Given the description of an element on the screen output the (x, y) to click on. 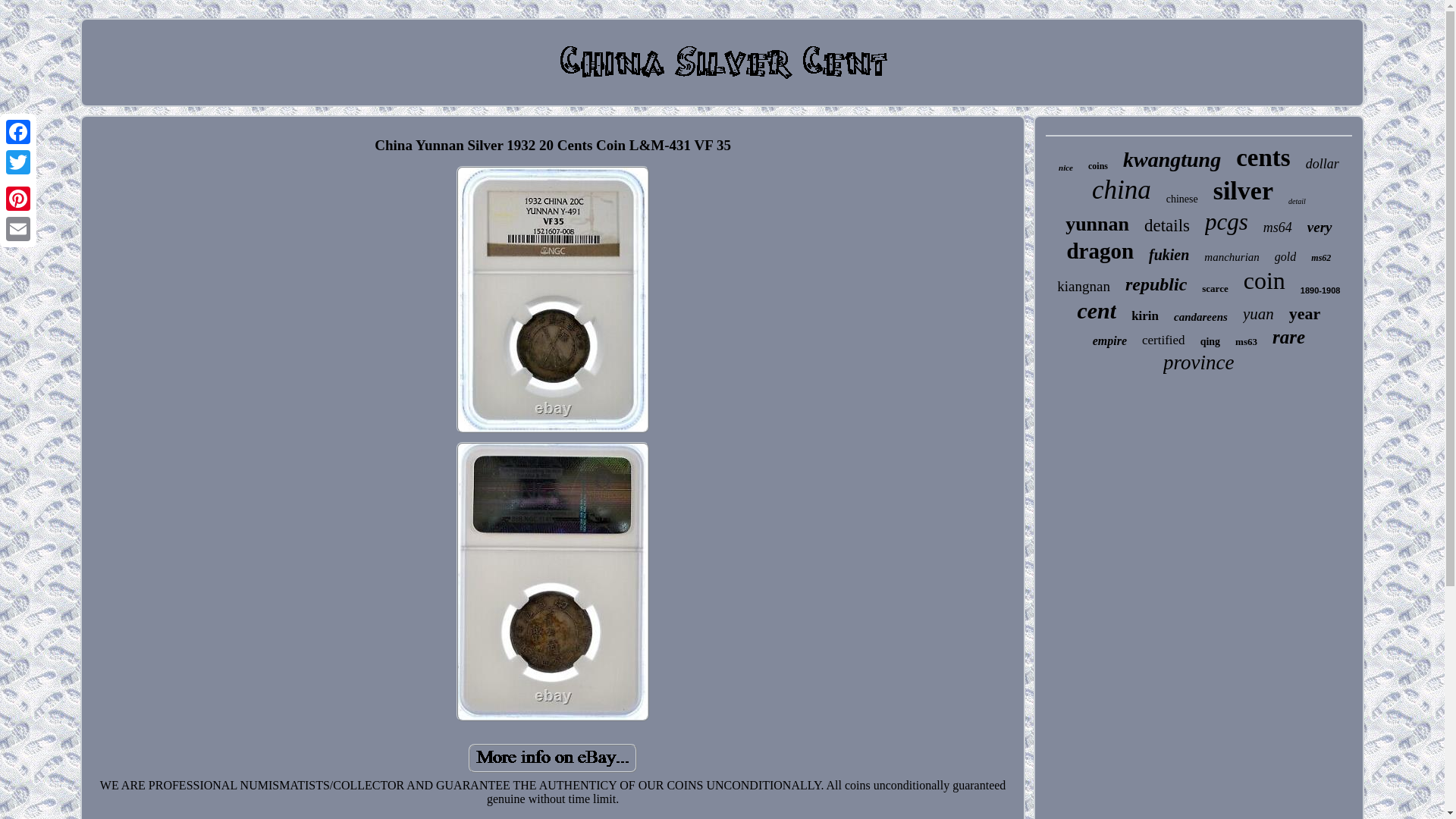
ms62 (1320, 257)
fukien (1168, 254)
detail (1297, 201)
cent (1096, 310)
silver (1242, 190)
yunnan (1097, 223)
kirin (1144, 315)
cents (1263, 157)
candareens (1200, 317)
china (1121, 190)
